Given the description of an element on the screen output the (x, y) to click on. 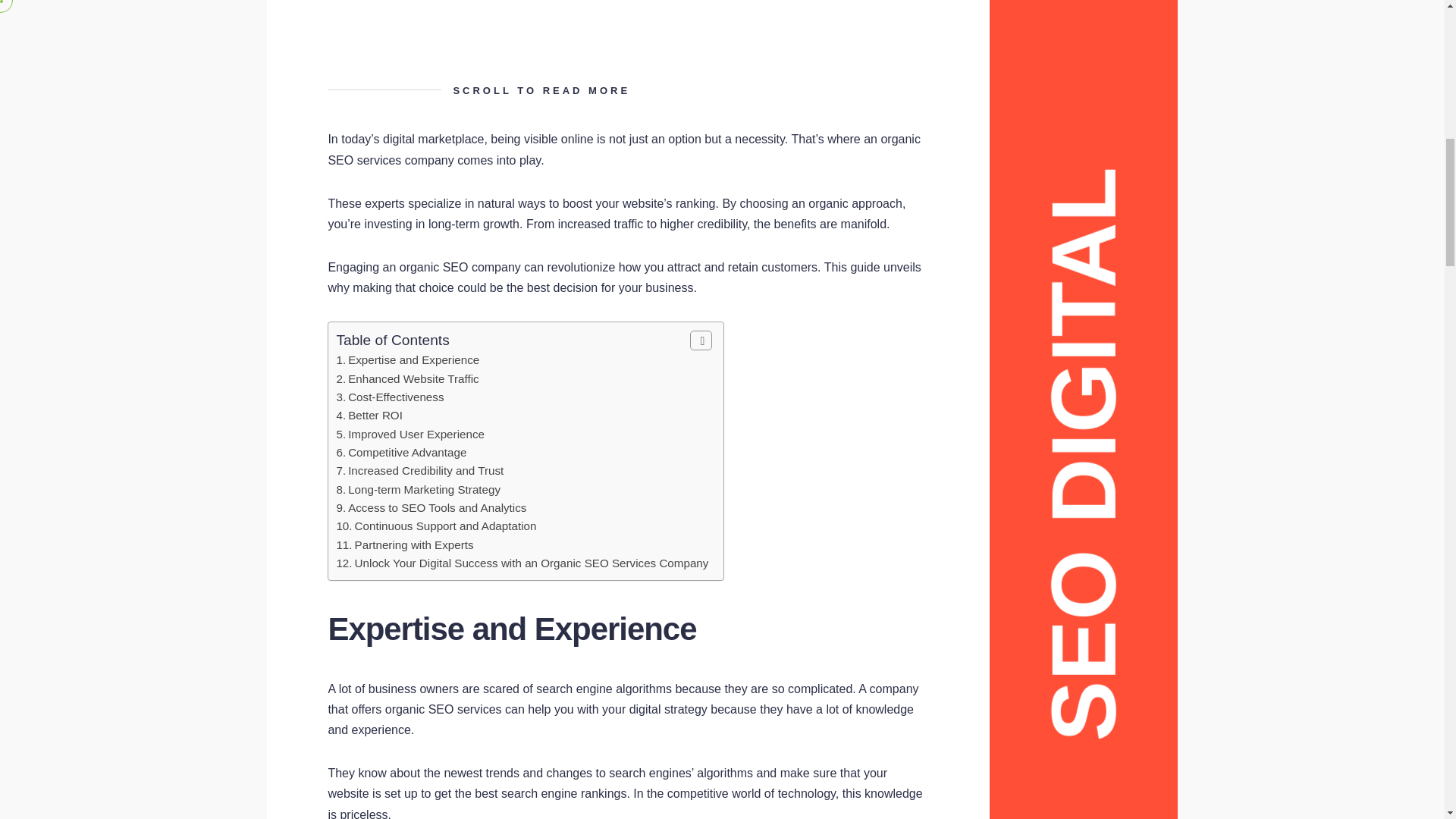
Partnering with Experts (414, 544)
Enhanced Website Traffic (413, 378)
Enhanced Website Traffic (413, 378)
SCROLL TO READ MORE (627, 90)
Improved User Experience (415, 433)
Expertise and Experience (413, 359)
Continuous Support and Adaptation (446, 525)
Increased Credibility and Trust (425, 470)
Better ROI (375, 414)
Competitive Advantage (406, 451)
Long-term Marketing Strategy (423, 489)
Access to SEO Tools and Analytics (436, 507)
Partnering with Experts (414, 544)
Continuous Support and Adaptation (446, 525)
